Given the description of an element on the screen output the (x, y) to click on. 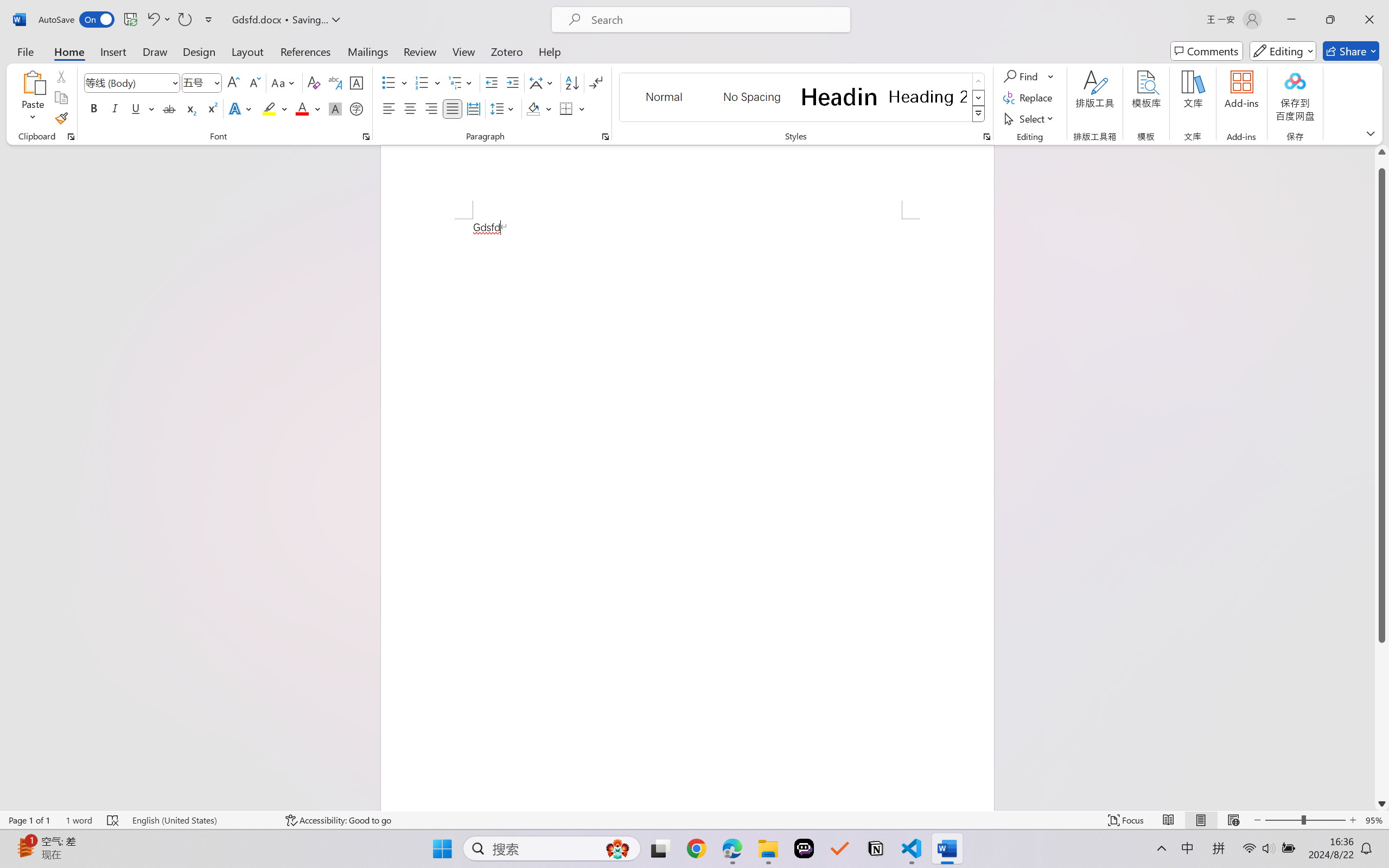
Enclose Characters... (356, 108)
Select (1030, 118)
Heading 1 (839, 96)
Shading RGB(0, 0, 0) (533, 108)
Subscript (190, 108)
Align Right (431, 108)
Line up (1382, 151)
